Given the description of an element on the screen output the (x, y) to click on. 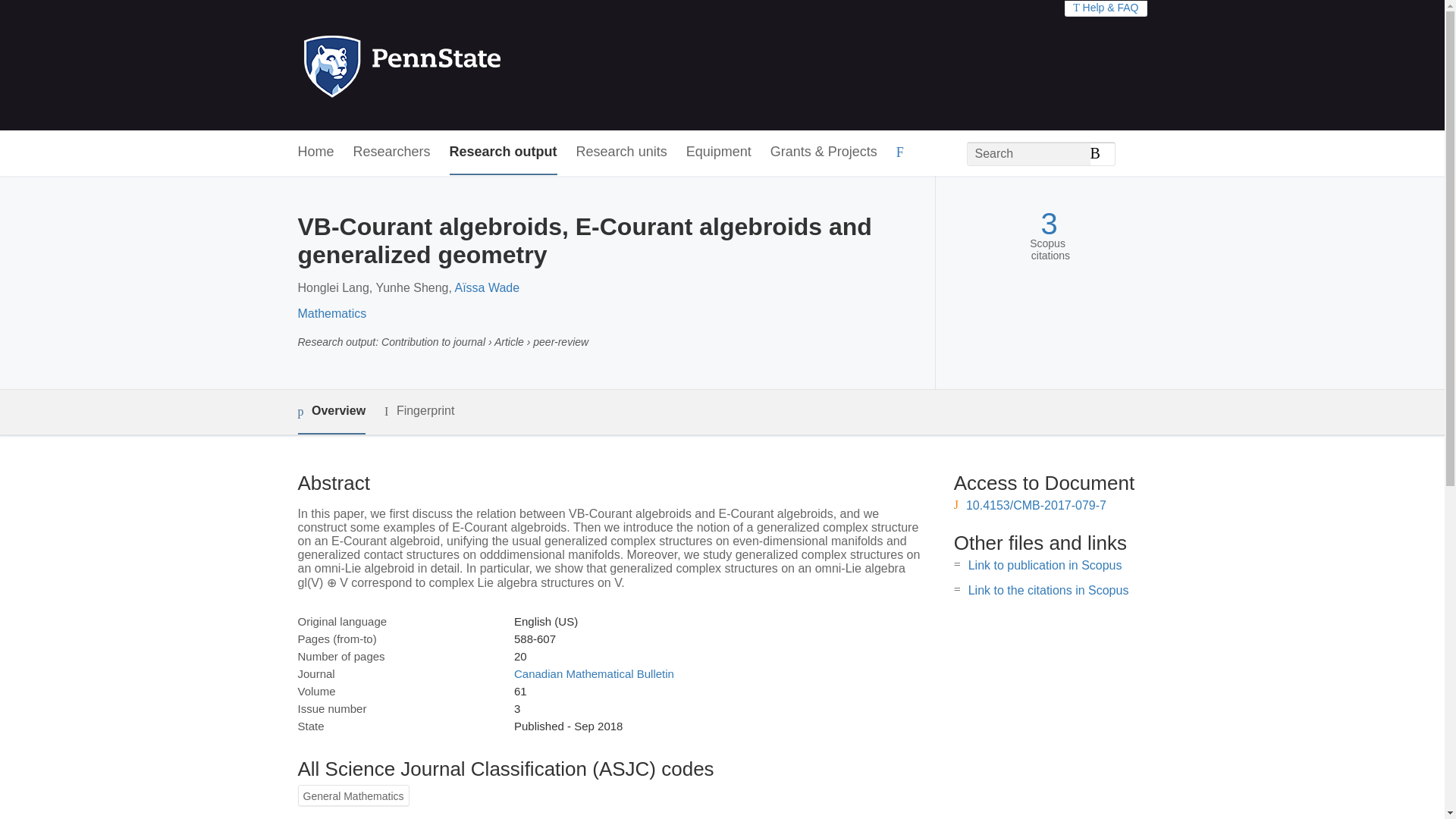
Fingerprint (419, 411)
Penn State Home (467, 65)
Link to publication in Scopus (1045, 564)
Canadian Mathematical Bulletin (593, 673)
Link to the citations in Scopus (1048, 590)
Equipment (718, 152)
Research units (621, 152)
Overview (331, 411)
Mathematics (331, 313)
Research output (503, 152)
Researchers (391, 152)
